Given the description of an element on the screen output the (x, y) to click on. 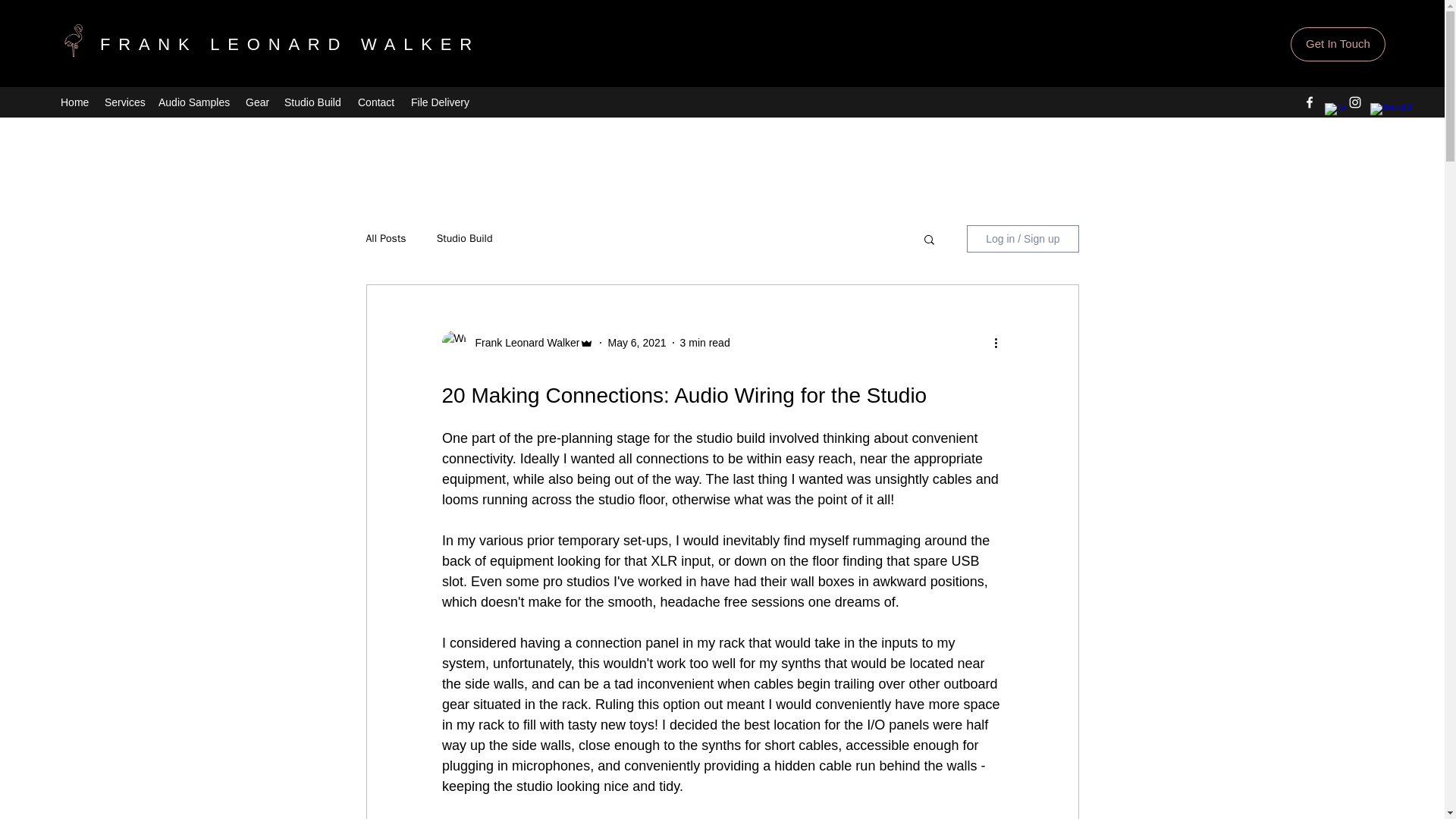
All Posts (385, 238)
Studio Build (464, 238)
FRANK LEONARD WALKER (290, 44)
Audio Samples (194, 101)
Contact (376, 101)
File Delivery (439, 101)
3 min read (704, 342)
May 6, 2021 (636, 342)
Gear (257, 101)
Frank Leonard Walker (522, 342)
